Given the description of an element on the screen output the (x, y) to click on. 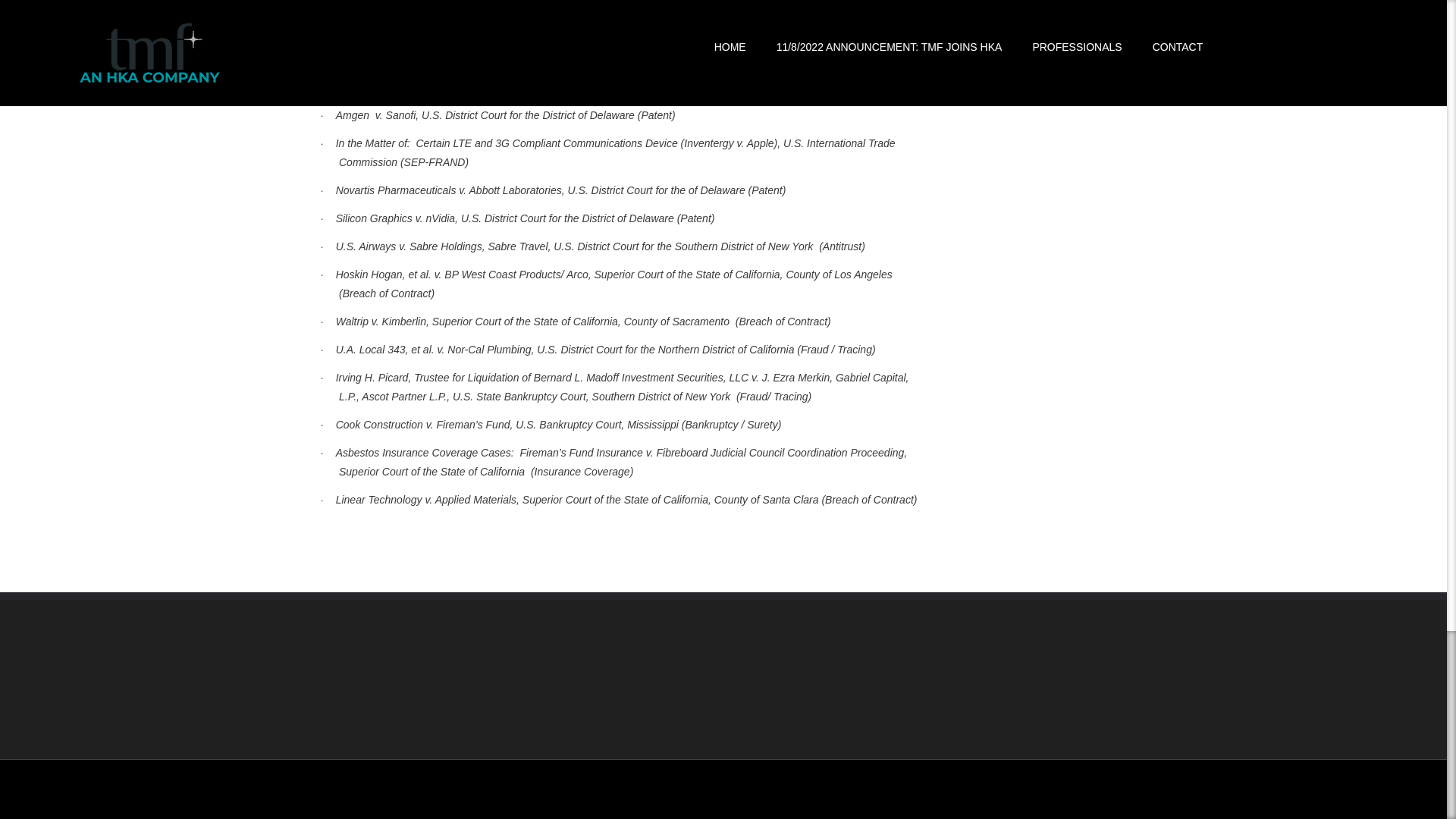
Submit (362, 730)
